Given the description of an element on the screen output the (x, y) to click on. 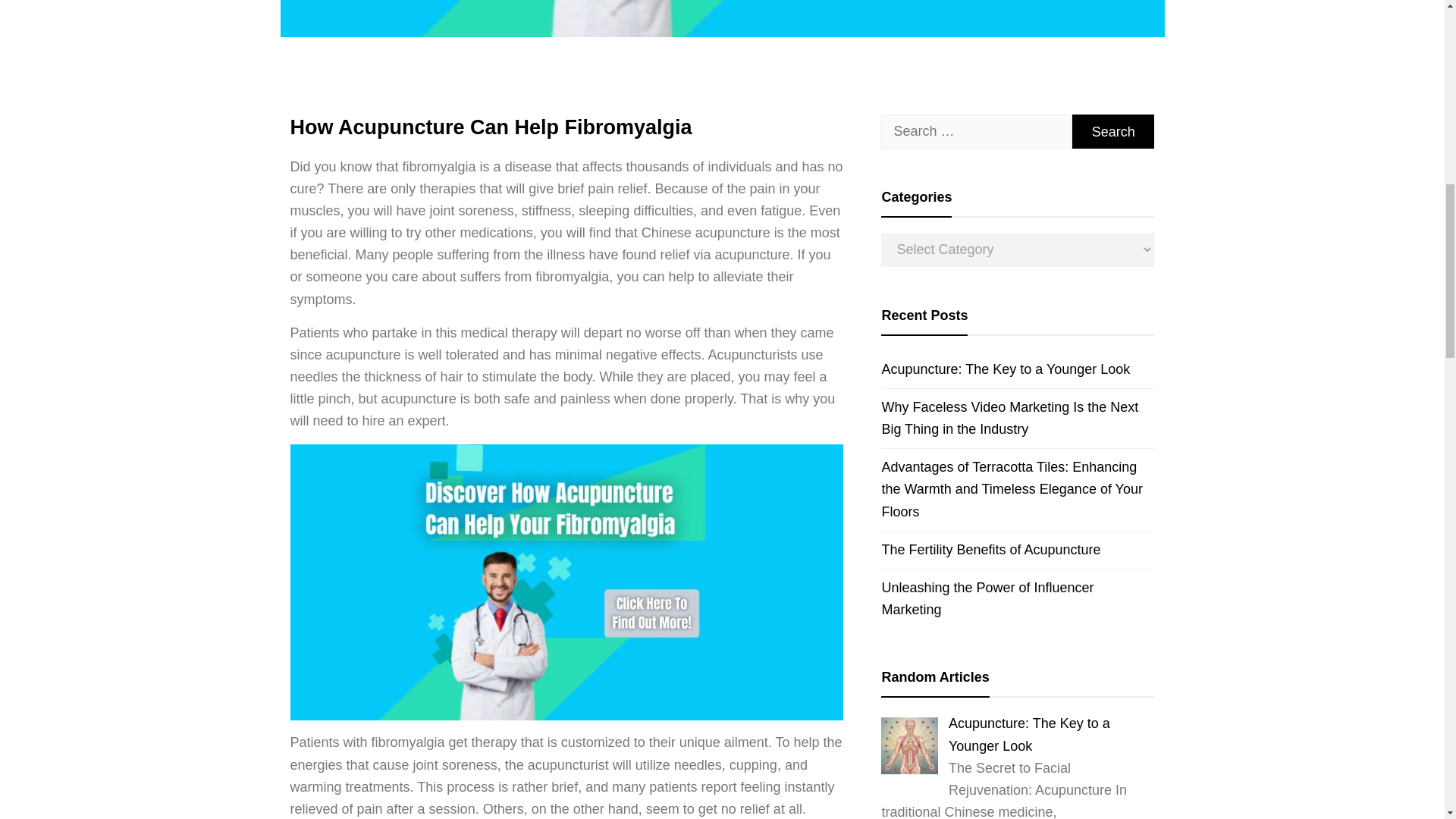
Search (1112, 131)
Search (1112, 131)
Acupuncture: The Key to a Younger Look (1017, 369)
Acupuncture: The Key to a Younger Look (1029, 733)
The Fertility Benefits of Acupuncture (1017, 549)
Search (1112, 131)
Unleashing the Power of Influencer Marketing (1017, 598)
